Given the description of an element on the screen output the (x, y) to click on. 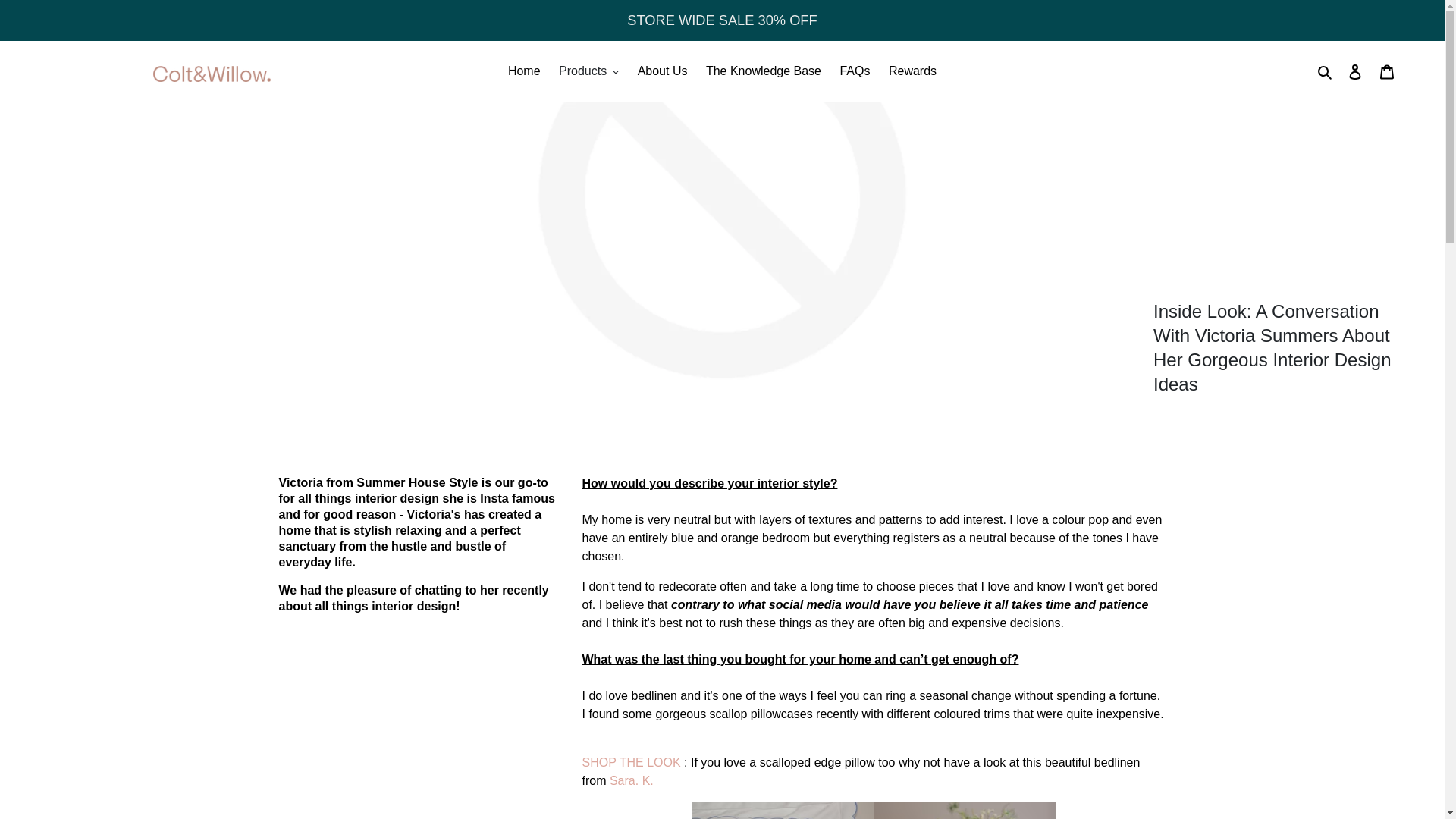
Products (588, 70)
white bedlinen with scalloped edge (631, 780)
Cart (1387, 70)
Rewards (911, 70)
The Knowledge Base (763, 70)
Search (1326, 71)
FAQs (854, 70)
Home (524, 70)
Log in (1355, 70)
Sara. K. (631, 780)
About Us (662, 70)
